Given the description of an element on the screen output the (x, y) to click on. 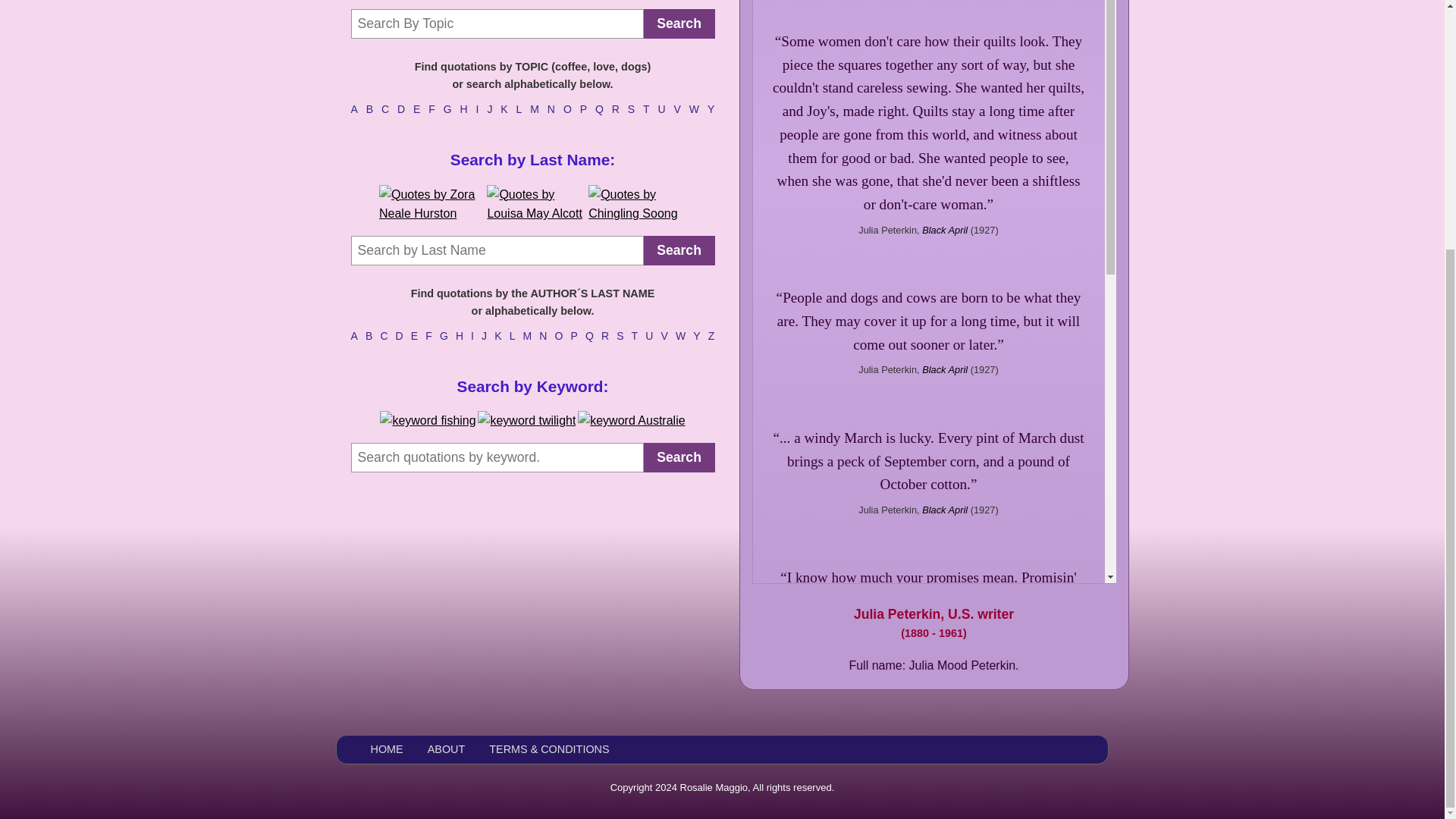
Search (678, 23)
Search (678, 250)
Search alphabetically for famous quotations (532, 88)
